Given the description of an element on the screen output the (x, y) to click on. 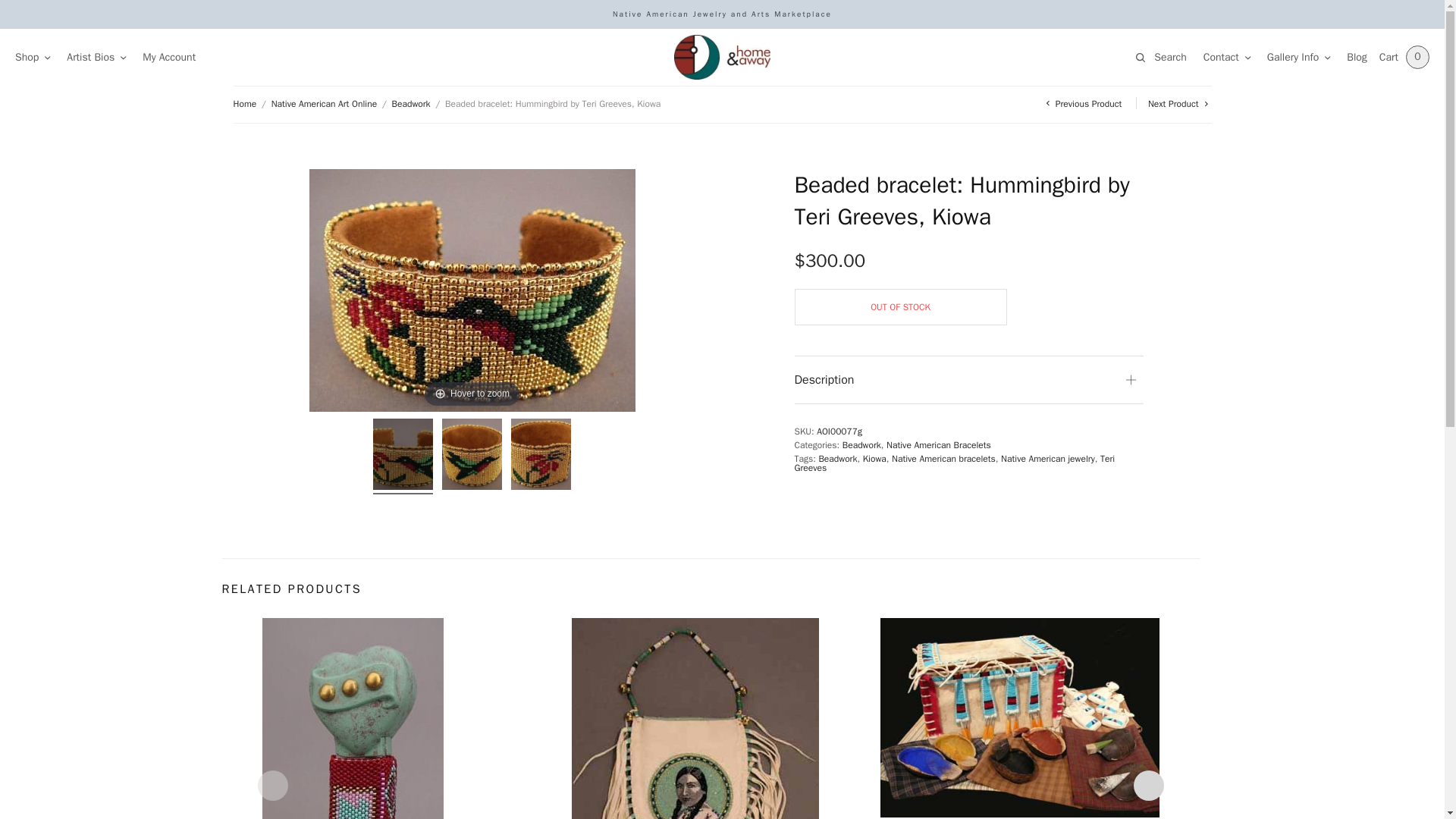
Shop (31, 57)
My Account (168, 57)
Artist Bios (95, 57)
AOI00077g-2 (471, 456)
AOI00077g-1 (402, 456)
Contact (1227, 57)
AOI00077g-3 (540, 456)
Lakota Paint Kit (1019, 717)
